Given the description of an element on the screen output the (x, y) to click on. 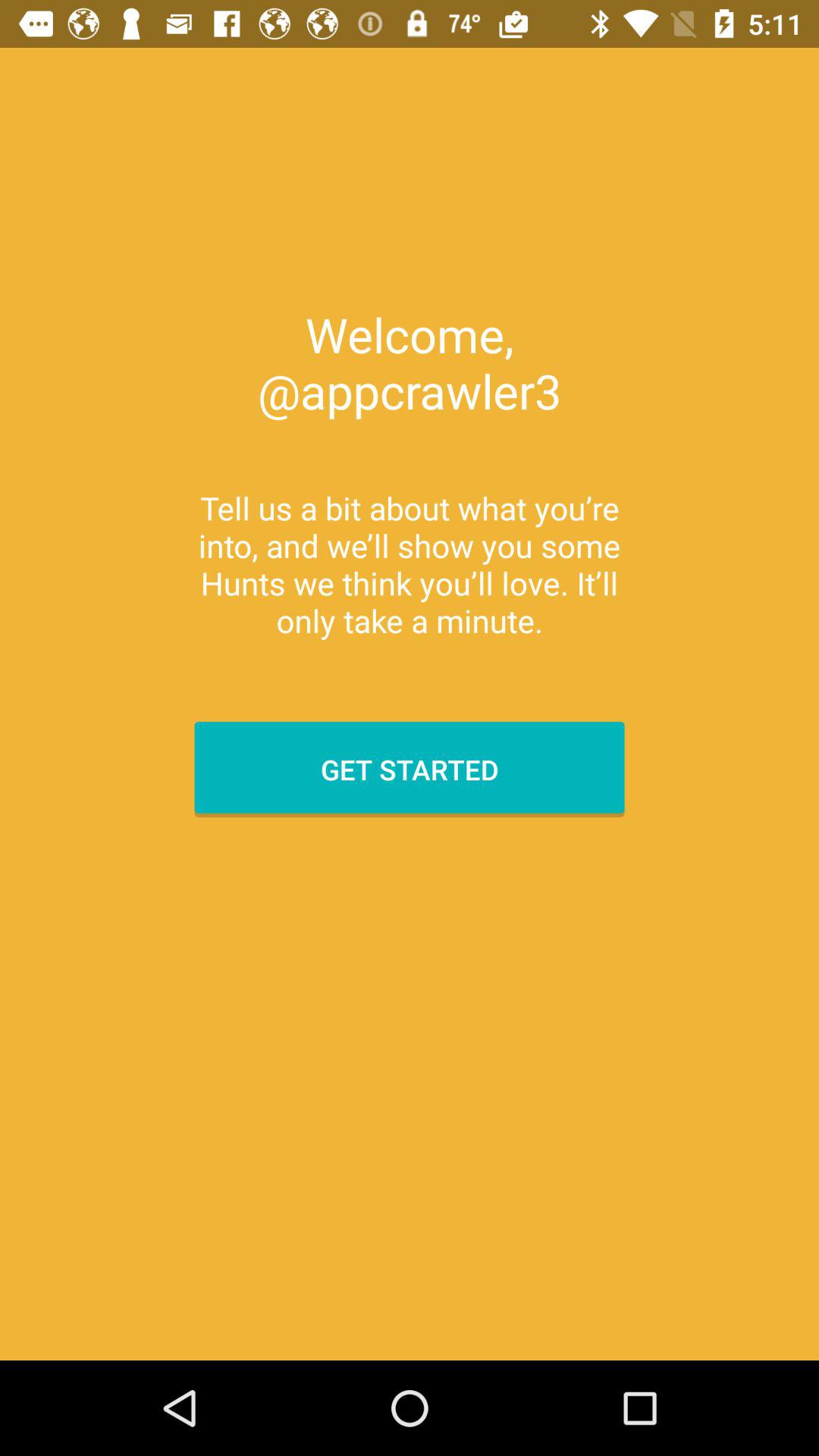
tap item below the tell us a (409, 769)
